Given the description of an element on the screen output the (x, y) to click on. 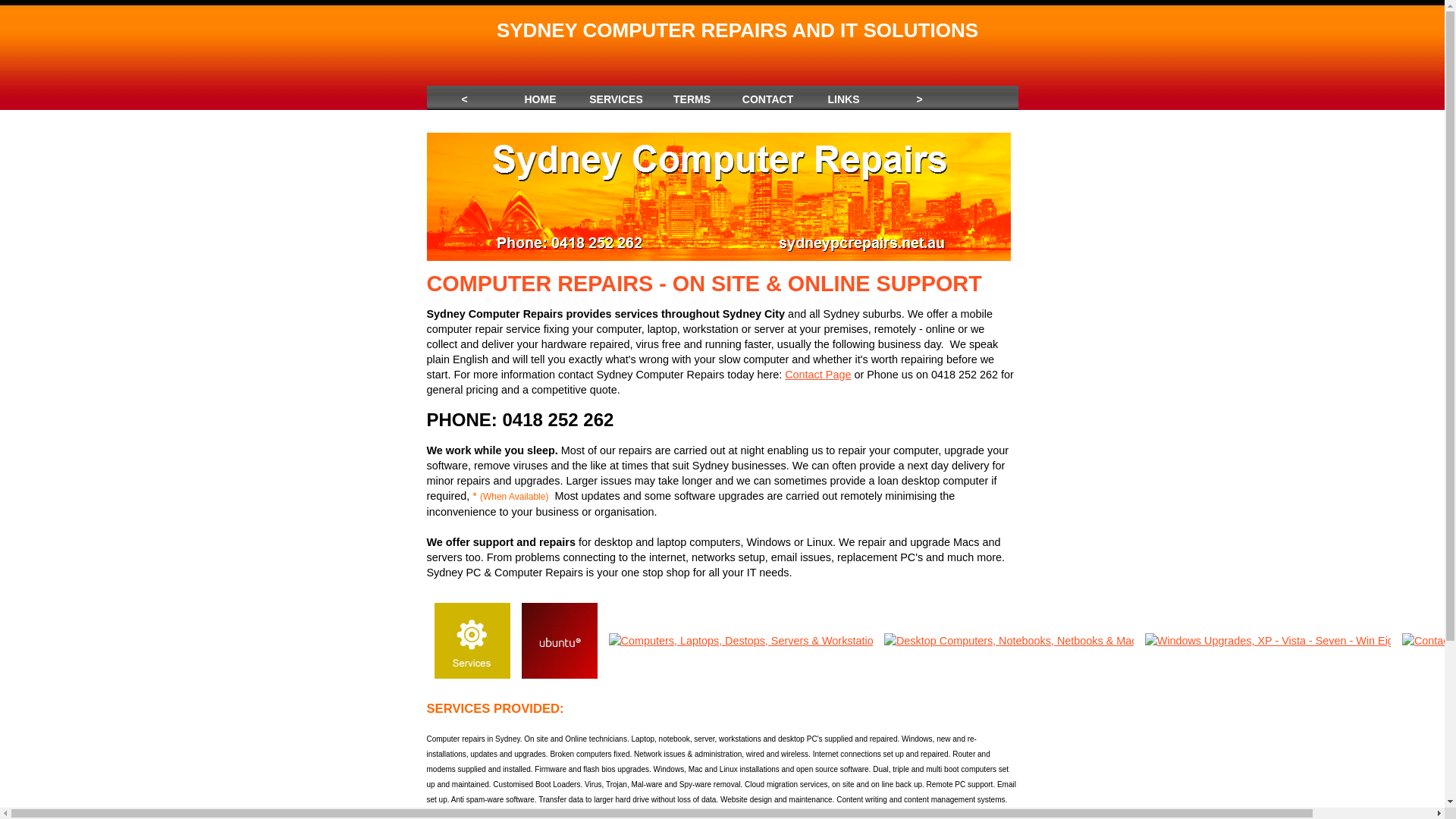
> Element type: text (919, 95)
CONTACT Element type: text (767, 95)
Laptop, Desktop Computers, Notebooks, Netbooks & Macs. Element type: hover (1008, 640)
software Element type: text (854, 769)
TERMS Element type: text (691, 95)
LINKS Element type: text (843, 95)
SYDNEY COMPUTER REPAIRS AND IT SOLUTIONS Element type: text (737, 29)
computer Element type: text (448, 329)
Services Provided - Sydney Computer Repairs Element type: hover (471, 640)
< Element type: text (464, 95)
Windows Upgrades, XP - Vista - Seven - Win Eight Element type: hover (1267, 640)
computer Element type: text (592, 753)
SERVICES Element type: text (615, 95)
Contact Page Element type: text (817, 374)
Computers, Laptops, Destops, Servers & Workstations Element type: hover (740, 640)
Sydney Computer Repairs - Phone 0418 252 262 Element type: hover (718, 196)
Ubuntu Linux - Alternative To Windows Element type: hover (559, 640)
HOME Element type: text (539, 95)
software Element type: text (694, 495)
